Given the description of an element on the screen output the (x, y) to click on. 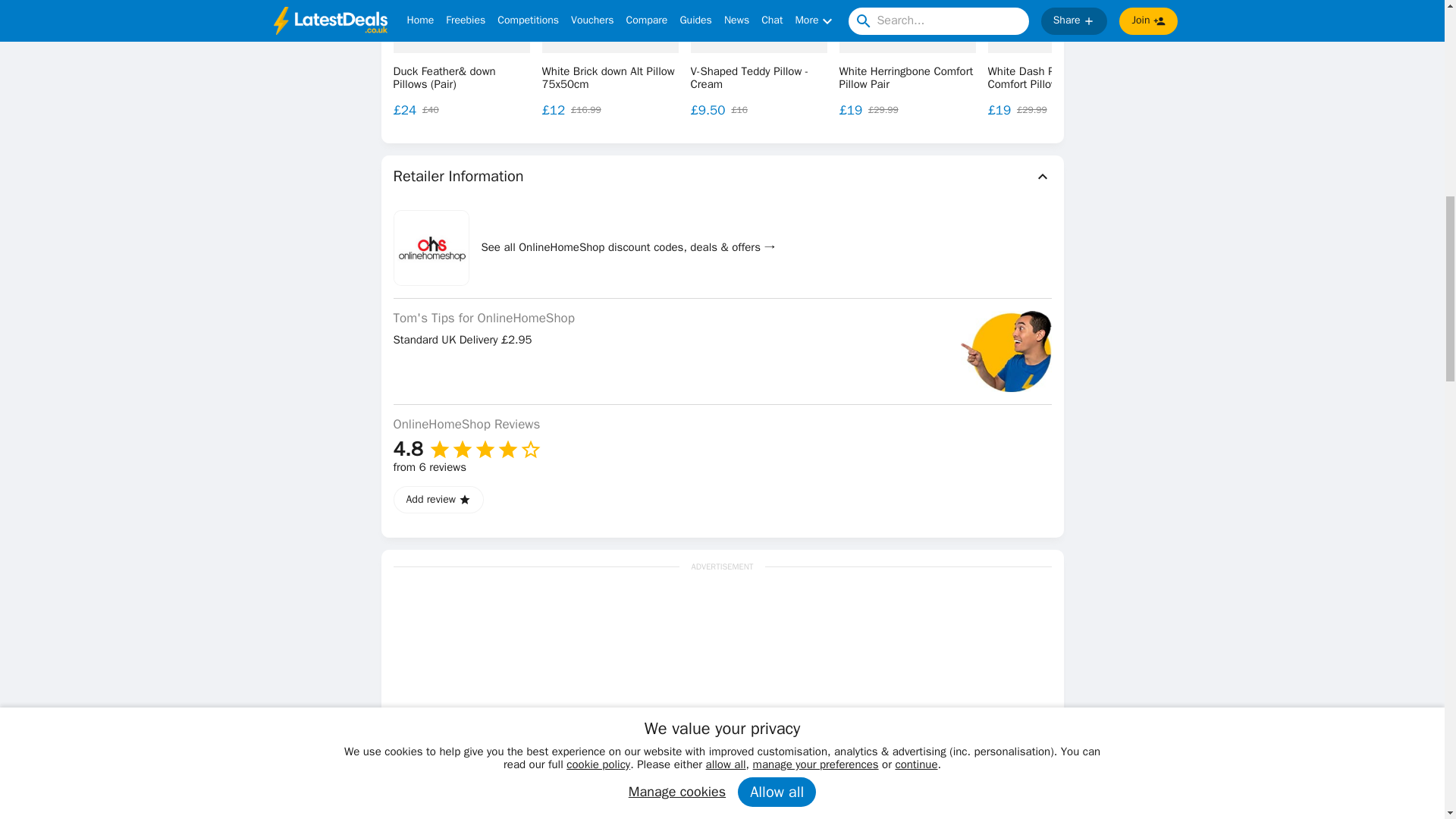
See more offers (1329, 22)
